Given the description of an element on the screen output the (x, y) to click on. 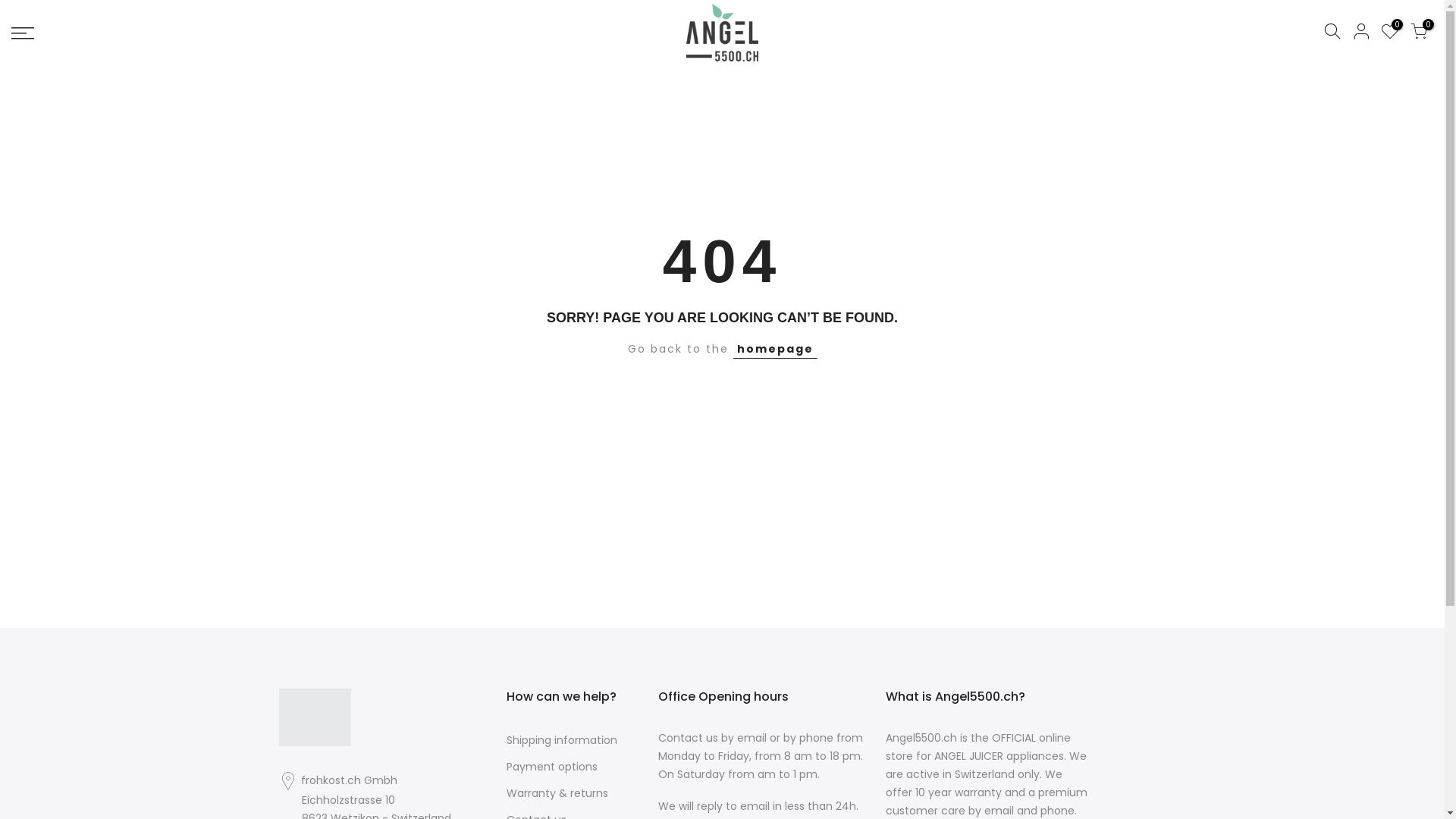
homepage Element type: text (774, 348)
0 Element type: text (1389, 33)
0 Element type: text (1418, 33)
Warranty & returns Element type: text (557, 792)
Shipping information Element type: text (561, 739)
Payment options Element type: text (551, 766)
